Given the description of an element on the screen output the (x, y) to click on. 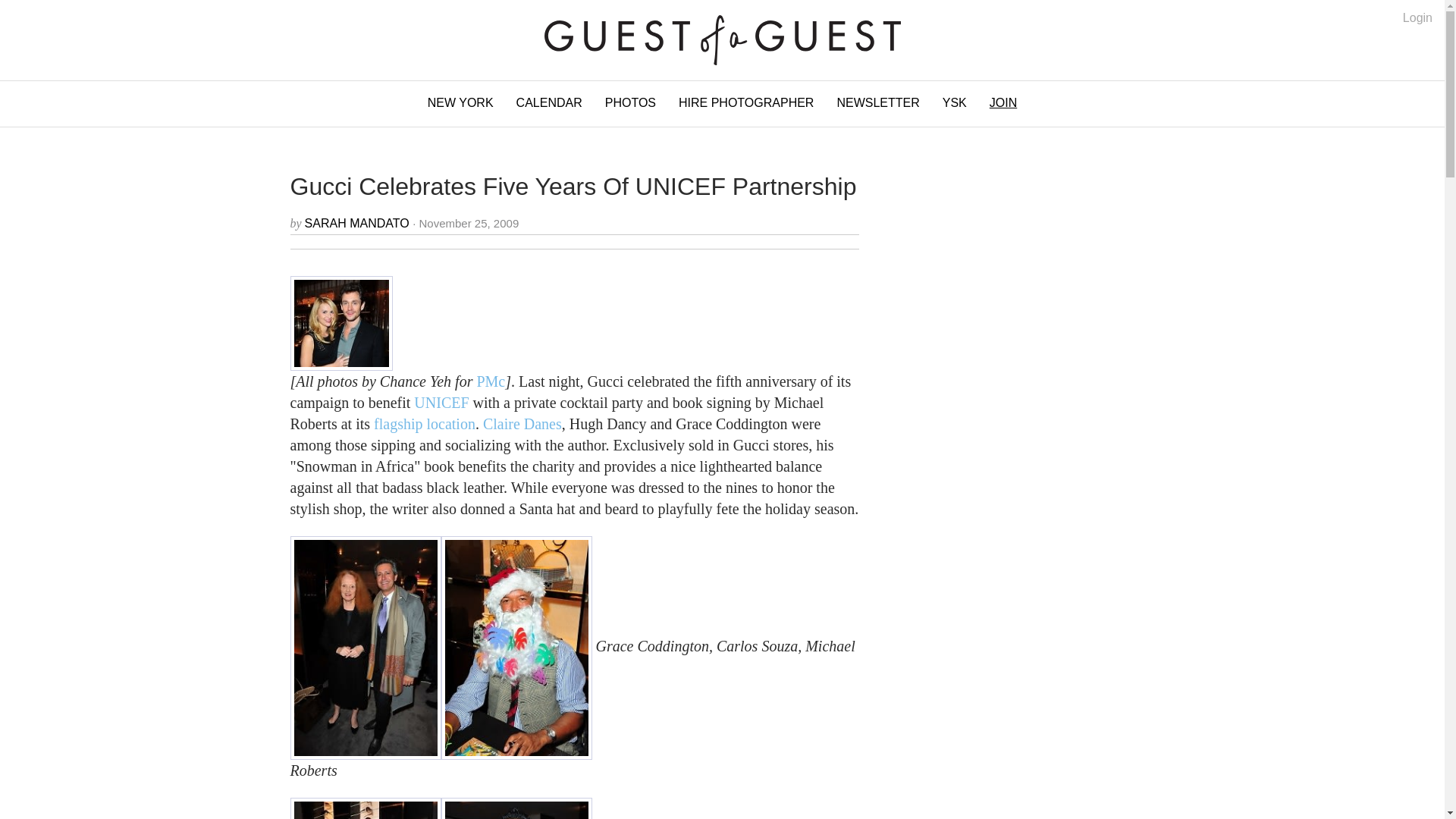
UNICEF (440, 402)
Claire Danes (522, 423)
HIRE PHOTOGRAPHER (745, 103)
Jim Shi  (516, 808)
Login (1417, 17)
PMc (490, 381)
Claire Danes (522, 423)
JOIN (1002, 103)
Jessica Diehl  (365, 808)
PHOTOS (630, 103)
